Given the description of an element on the screen output the (x, y) to click on. 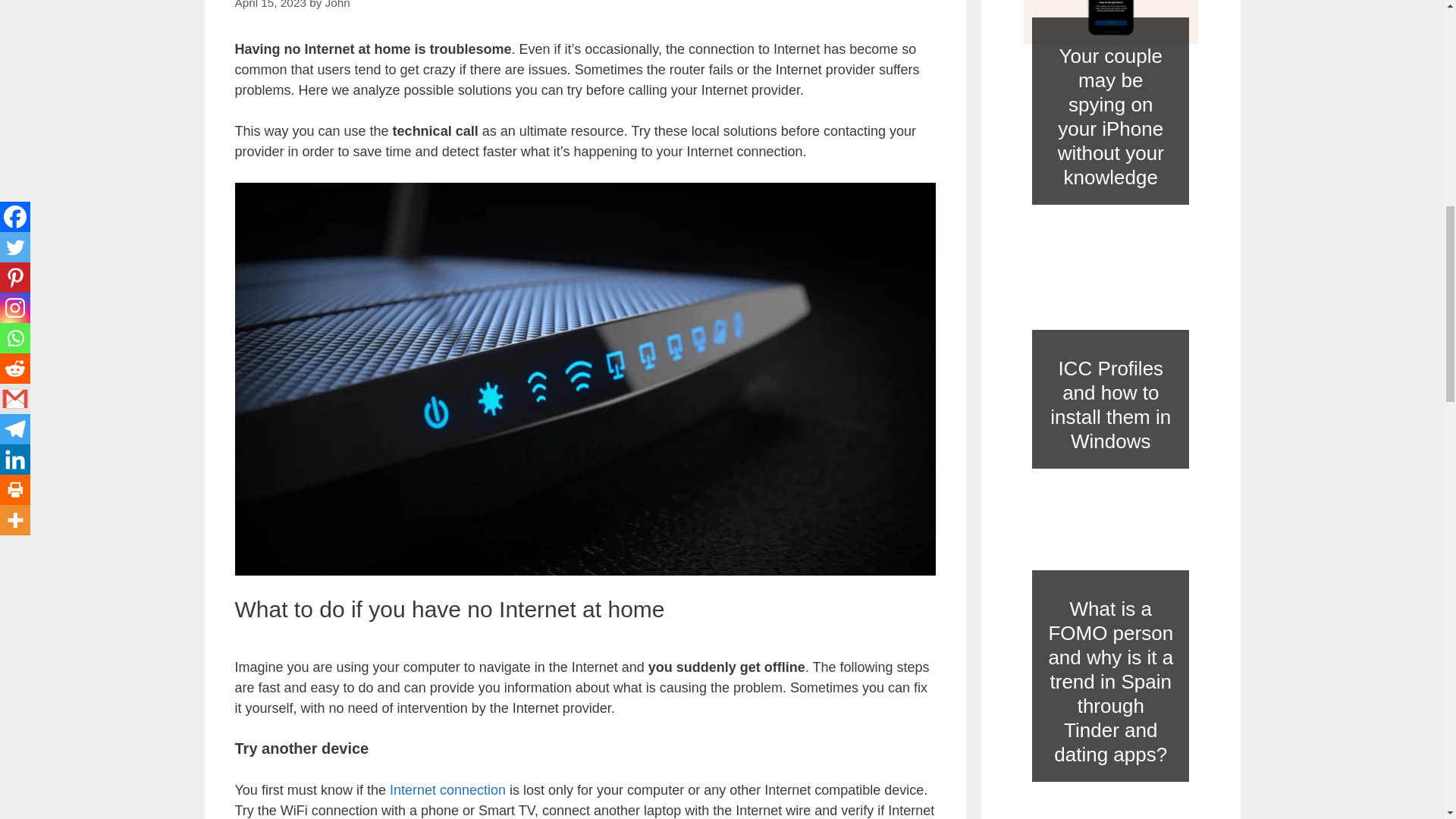
John (337, 4)
View all posts by John (337, 4)
Internet connection (447, 789)
April 15, 2023 (269, 4)
4:30 pm (269, 4)
